Given the description of an element on the screen output the (x, y) to click on. 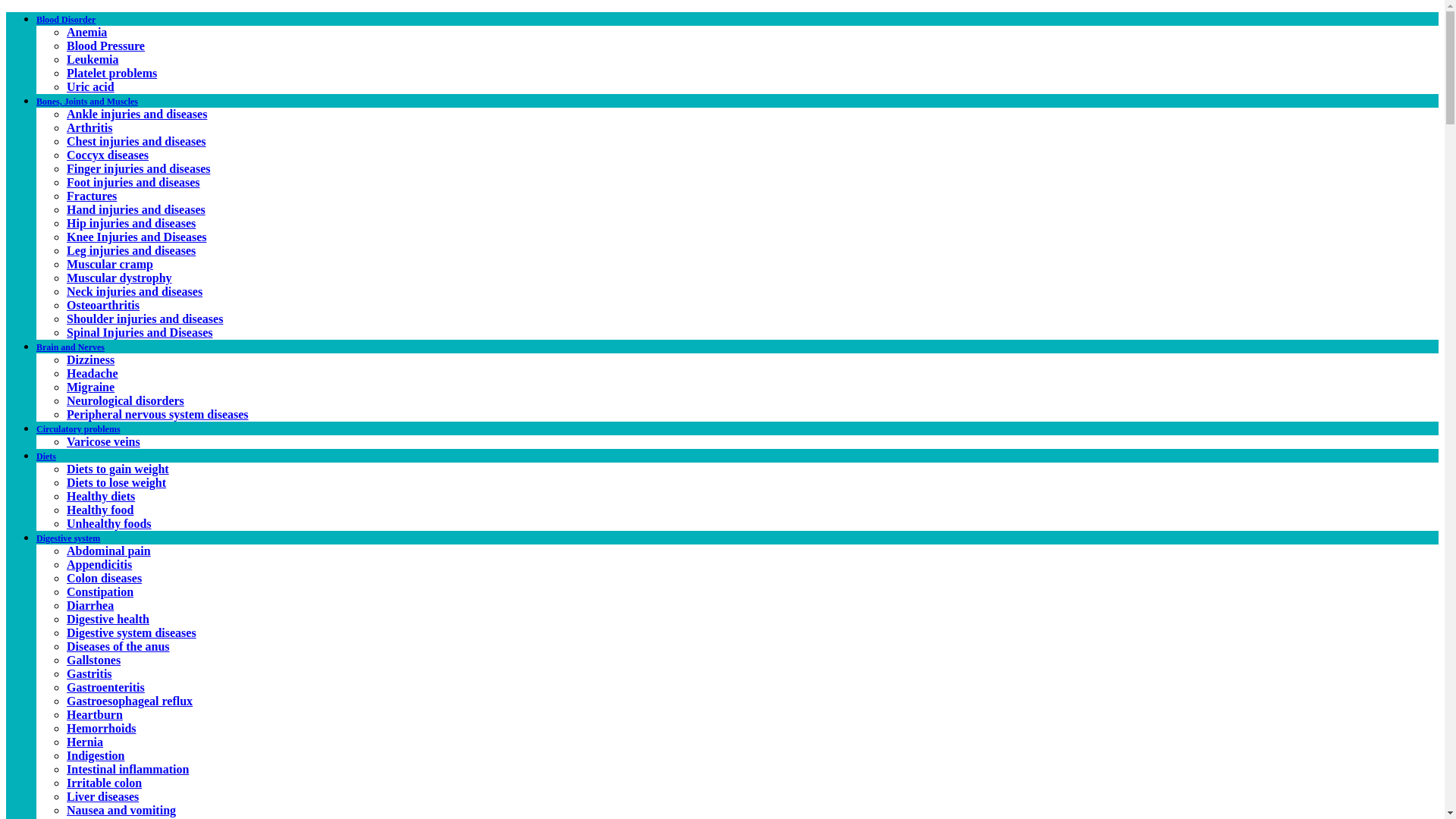
Abdominal pain (108, 550)
Dizziness (90, 359)
Bones, Joints and Muscles (87, 101)
Diets to lose weight (115, 481)
Leukemia (91, 59)
Neck injuries and diseases (134, 291)
Muscular cramp (109, 264)
Muscular dystrophy (118, 277)
Platelet problems (111, 72)
Peripheral nervous system diseases (157, 413)
